Given the description of an element on the screen output the (x, y) to click on. 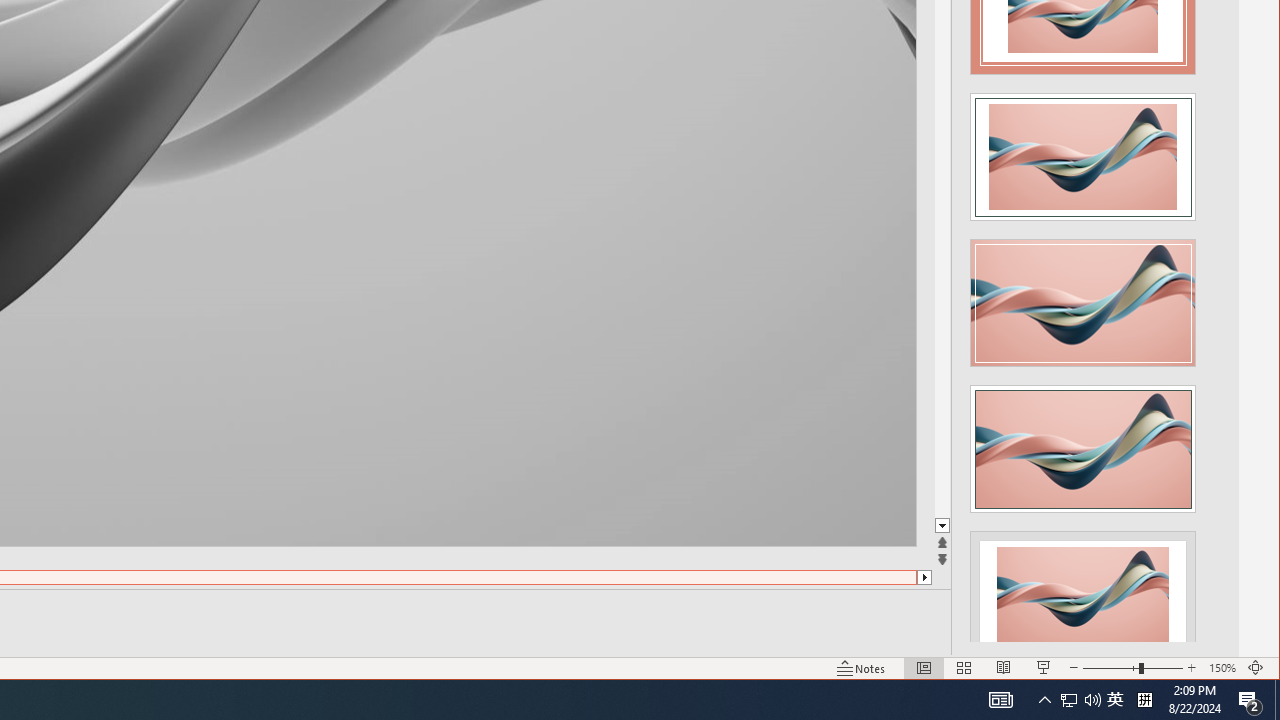
Zoom 150% (1222, 668)
